Given the description of an element on the screen output the (x, y) to click on. 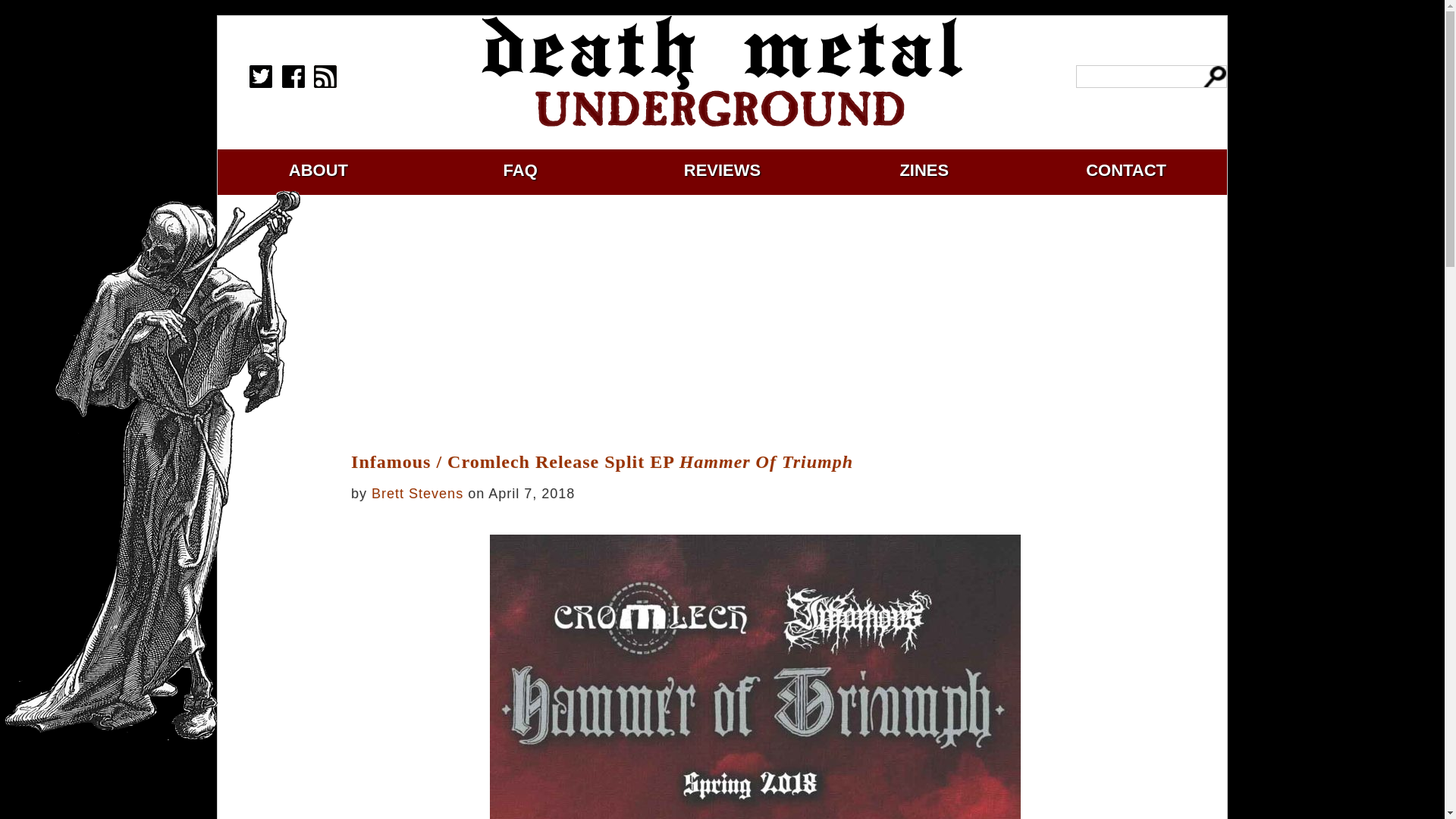
CONTACT (1126, 169)
FAQ (520, 169)
Brett Stevens (417, 493)
ZINES (924, 169)
ABOUT (317, 169)
REVIEWS (722, 169)
